Given the description of an element on the screen output the (x, y) to click on. 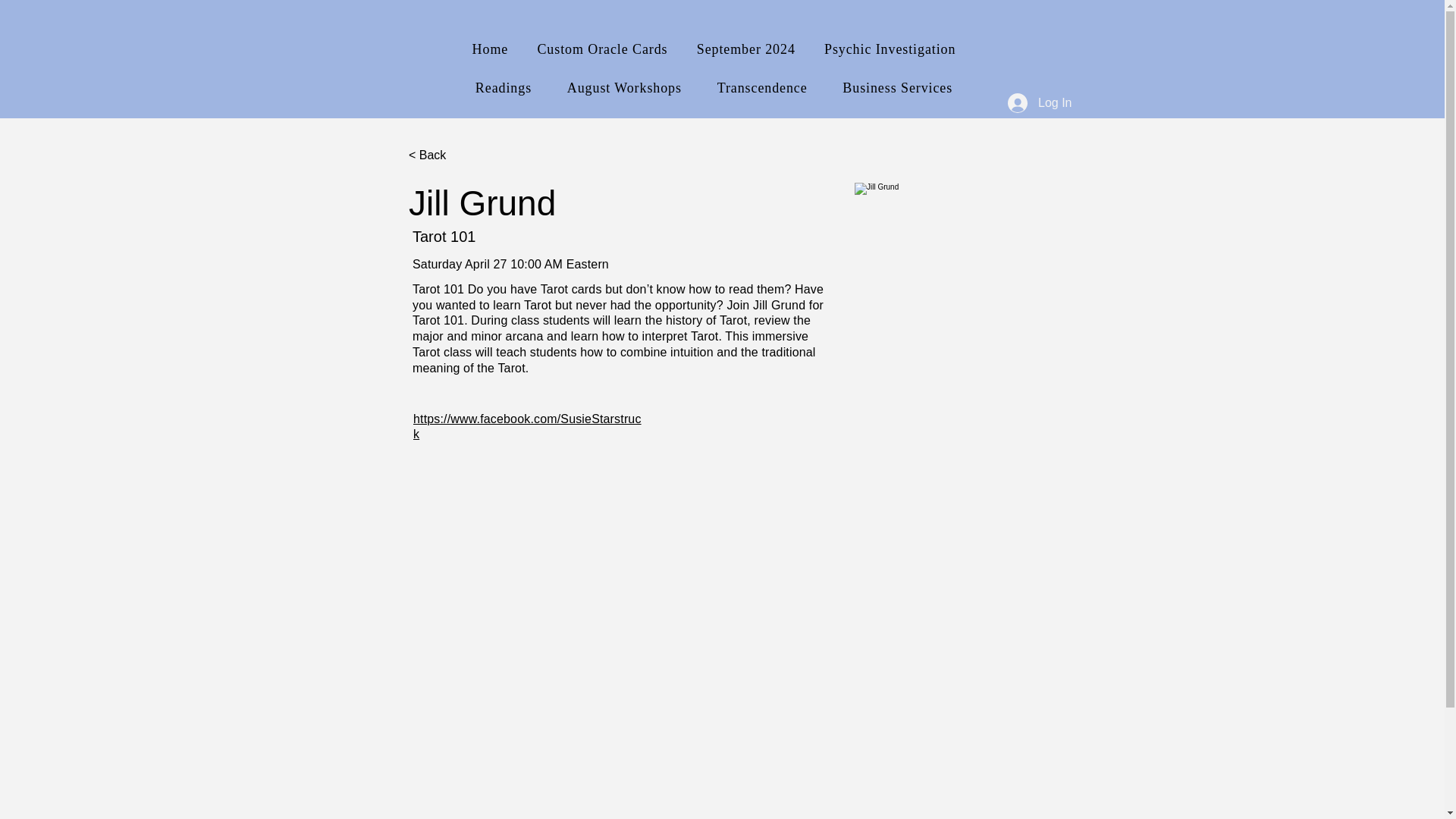
Log In (1039, 102)
September 2024 (745, 49)
August Workshops (623, 88)
Psychic Investigation (890, 49)
Business Services (898, 88)
Transcendence (761, 88)
Home (490, 49)
Screen Shot 2024-02-25 at 3.05.16 PM.png (1002, 330)
Custom Oracle Cards (601, 49)
Readings (504, 88)
